Given the description of an element on the screen output the (x, y) to click on. 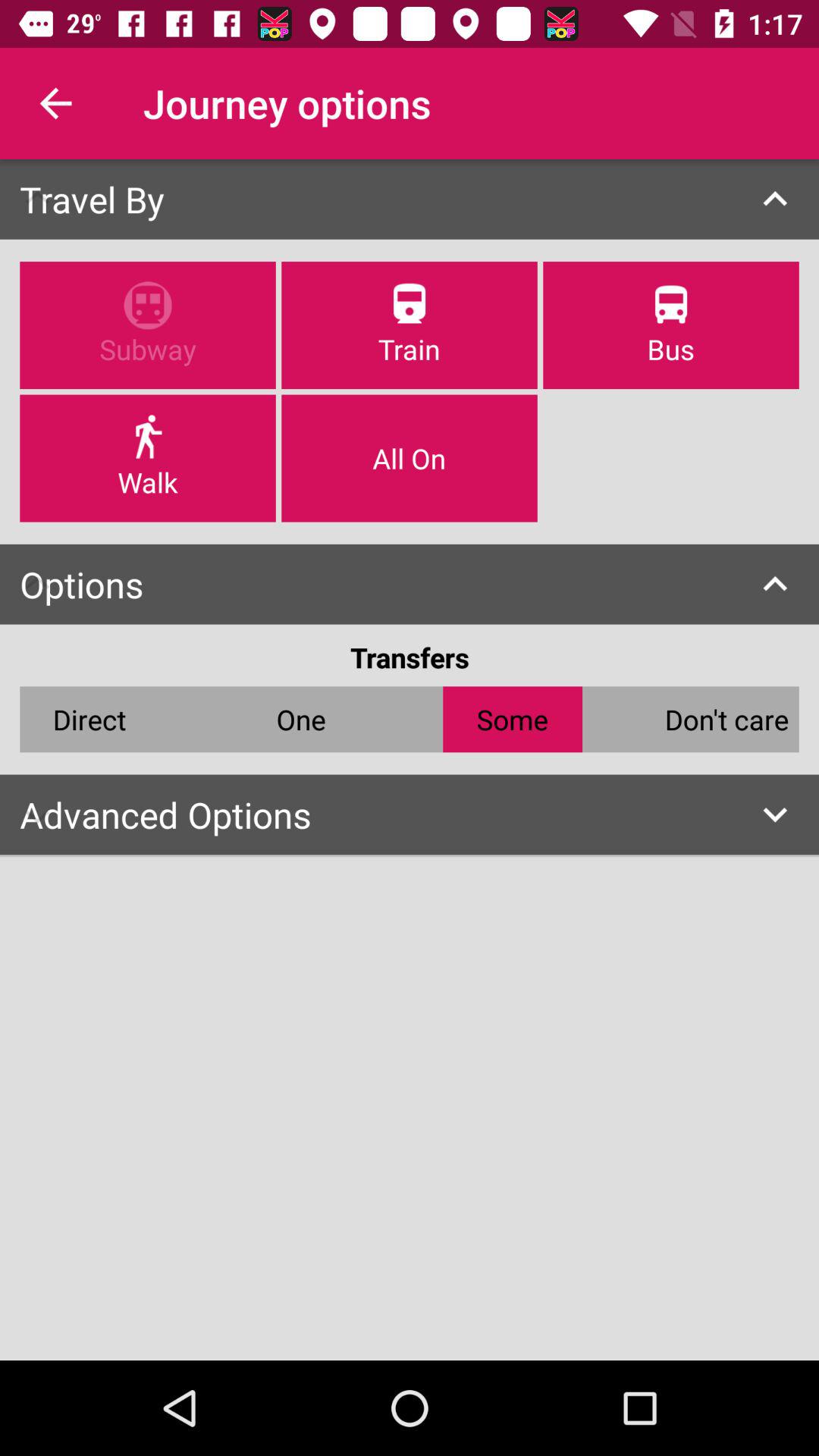
choose icon above advanced options (89, 719)
